Given the description of an element on the screen output the (x, y) to click on. 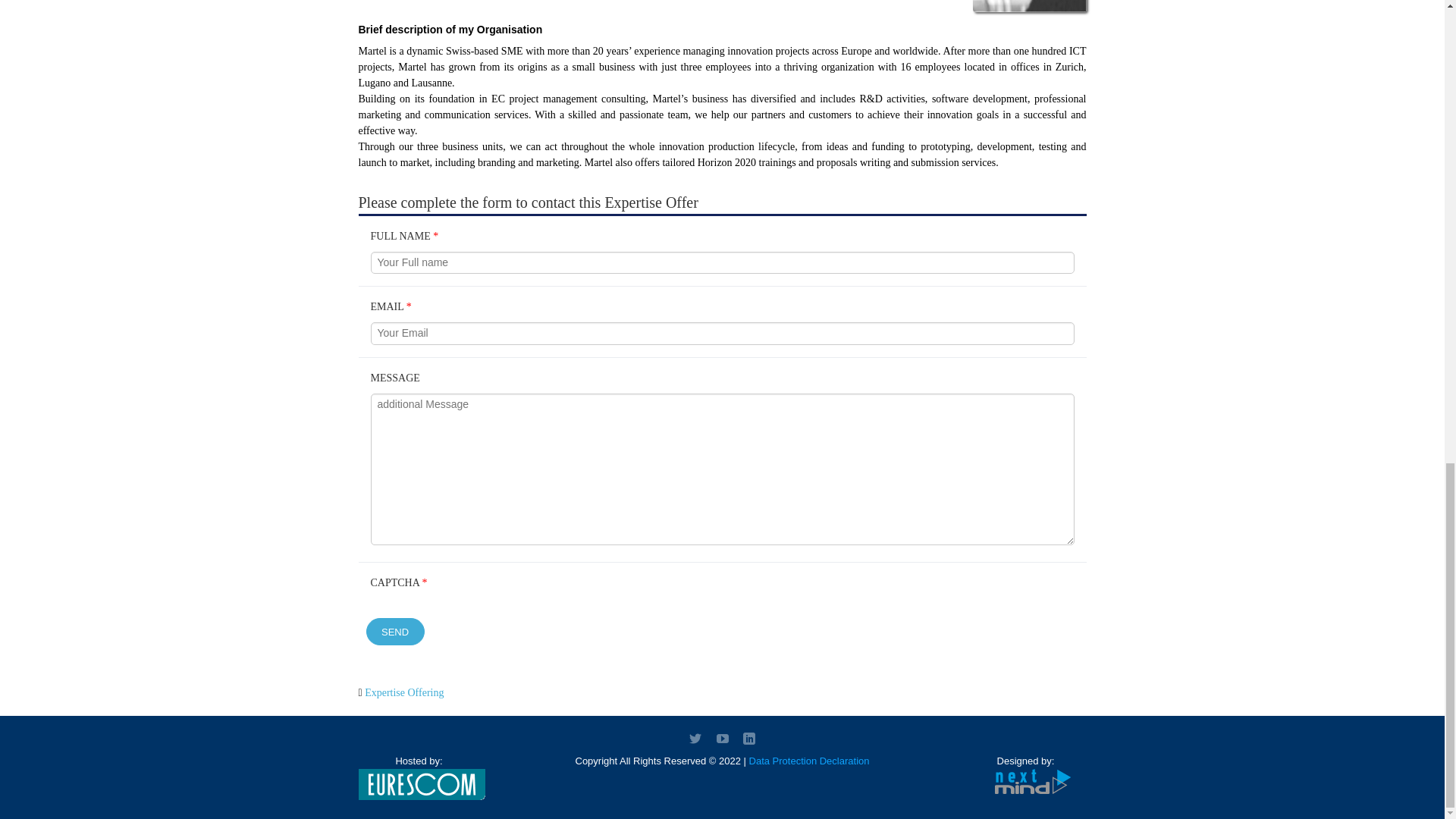
Youtube (722, 738)
Federico-Facca.png (1029, 8)
Linkedin (748, 738)
Send (394, 631)
